Given the description of an element on the screen output the (x, y) to click on. 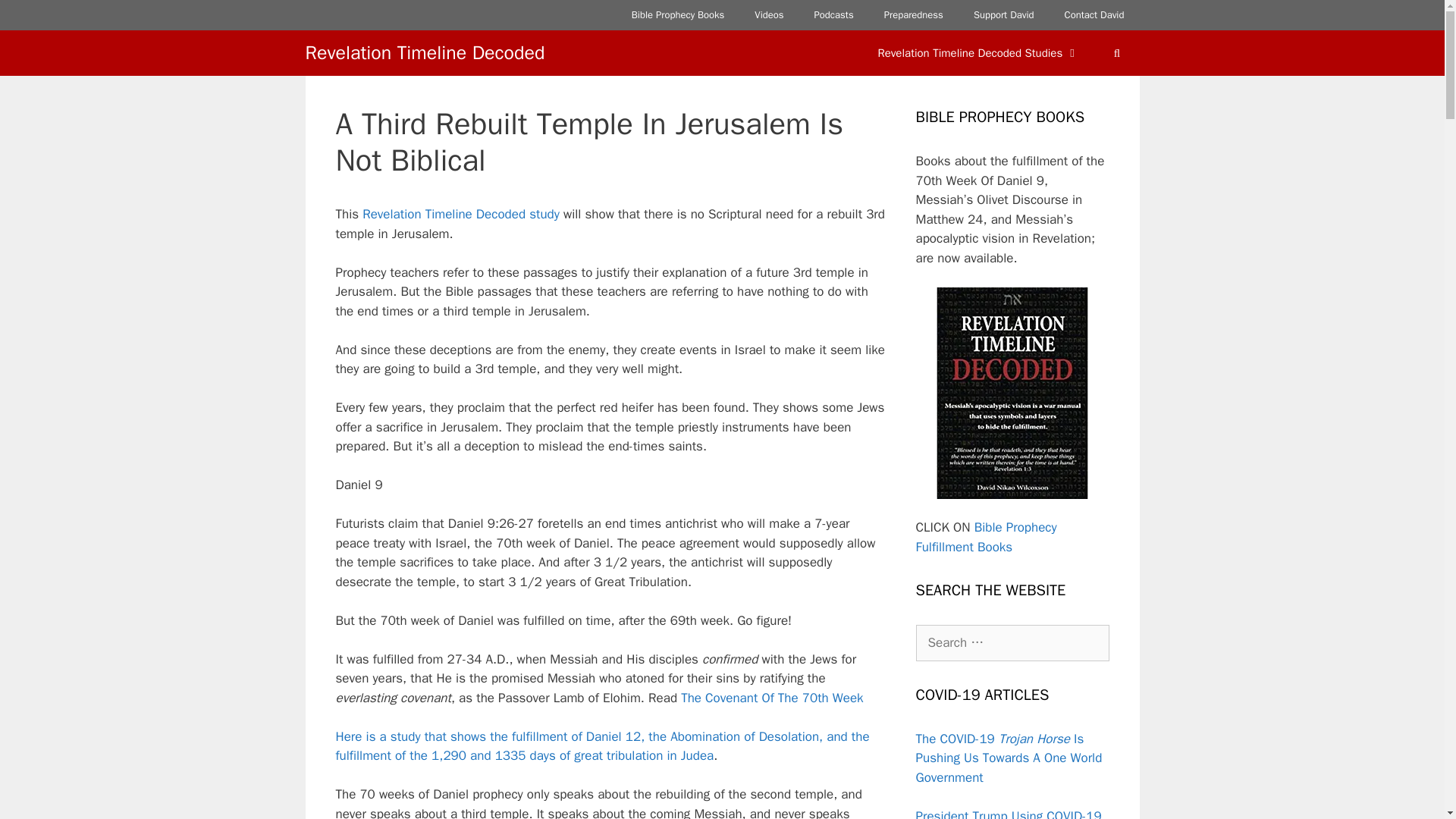
Revelation Timeline Decoded (424, 53)
The Covenant Of The 70th Week (772, 697)
Videos (768, 15)
Podcasts (834, 15)
Contact David (1094, 15)
Search for: (1012, 642)
Bible Prophecy Books (677, 15)
Revelation Timeline Decoded study (460, 213)
Support David (1003, 15)
